Given the description of an element on the screen output the (x, y) to click on. 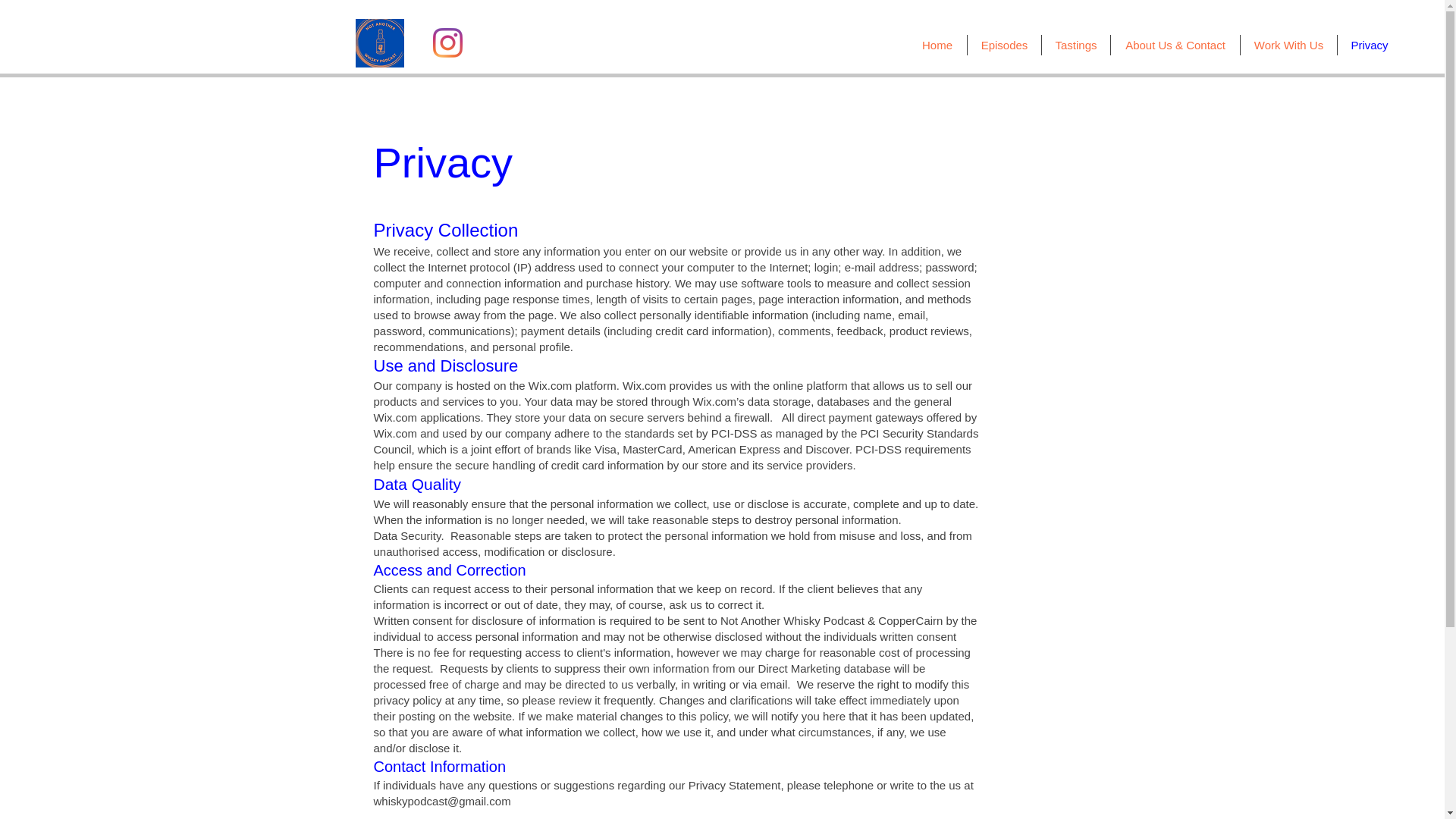
Tastings (1075, 45)
Episodes (1004, 45)
Privacy (1369, 45)
Work With Us (1288, 45)
Home (936, 45)
